Given the description of an element on the screen output the (x, y) to click on. 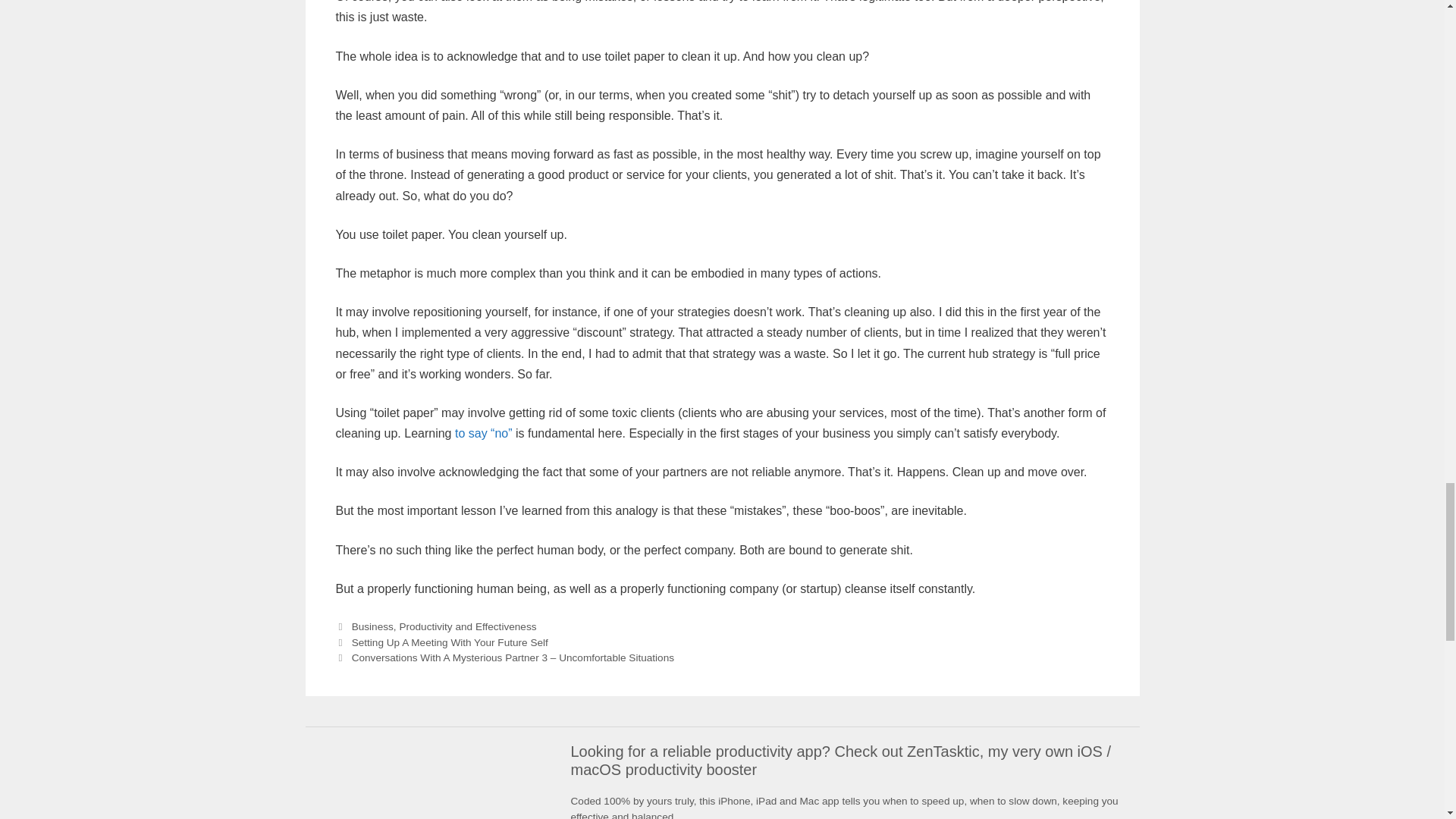
Productivity and Effectiveness (466, 626)
Setting Up A Meeting With Your Future Self (450, 642)
Next (504, 657)
Previous (440, 642)
Business (372, 626)
